Given the description of an element on the screen output the (x, y) to click on. 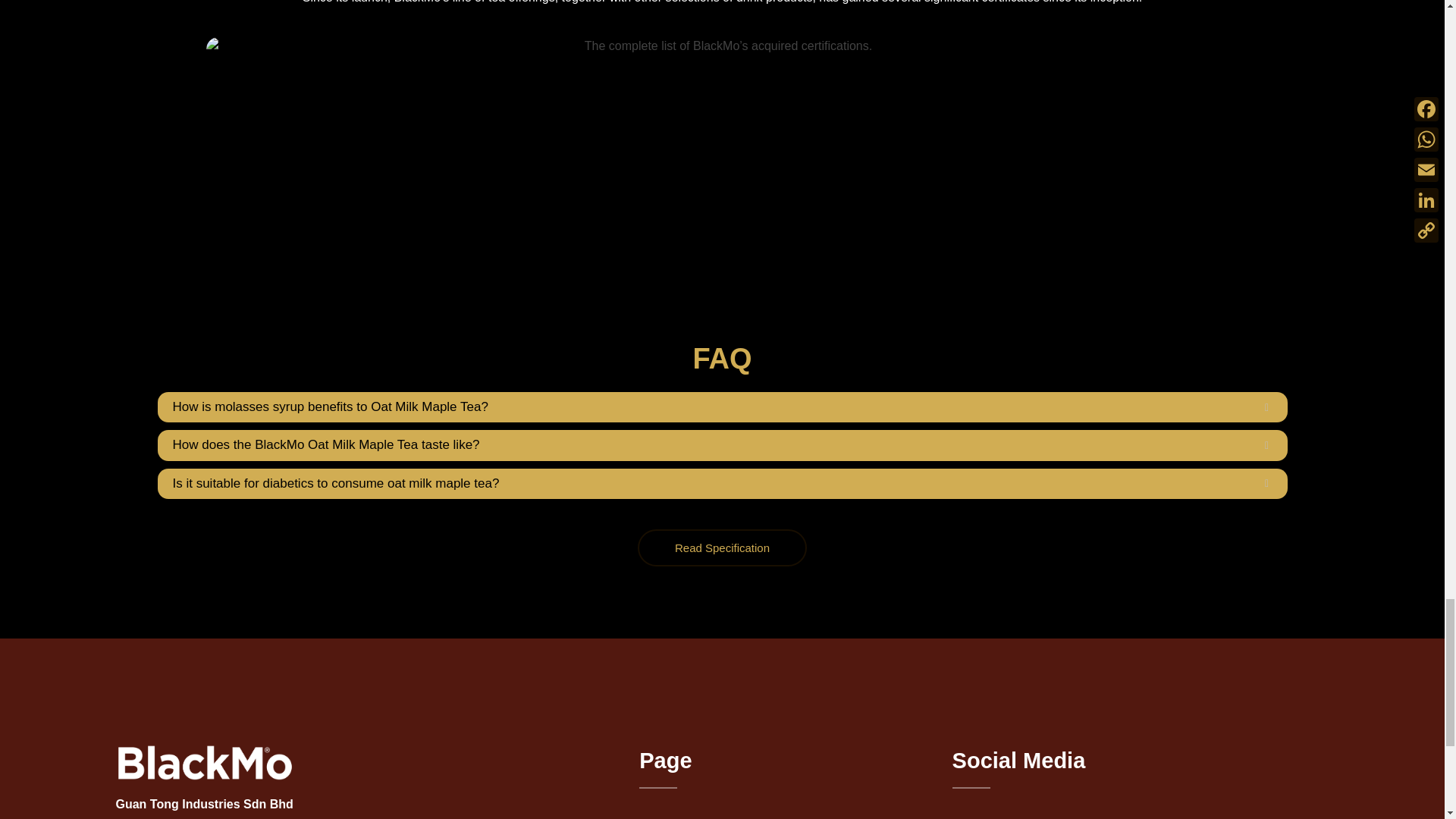
Read Specification (721, 547)
